Given the description of an element on the screen output the (x, y) to click on. 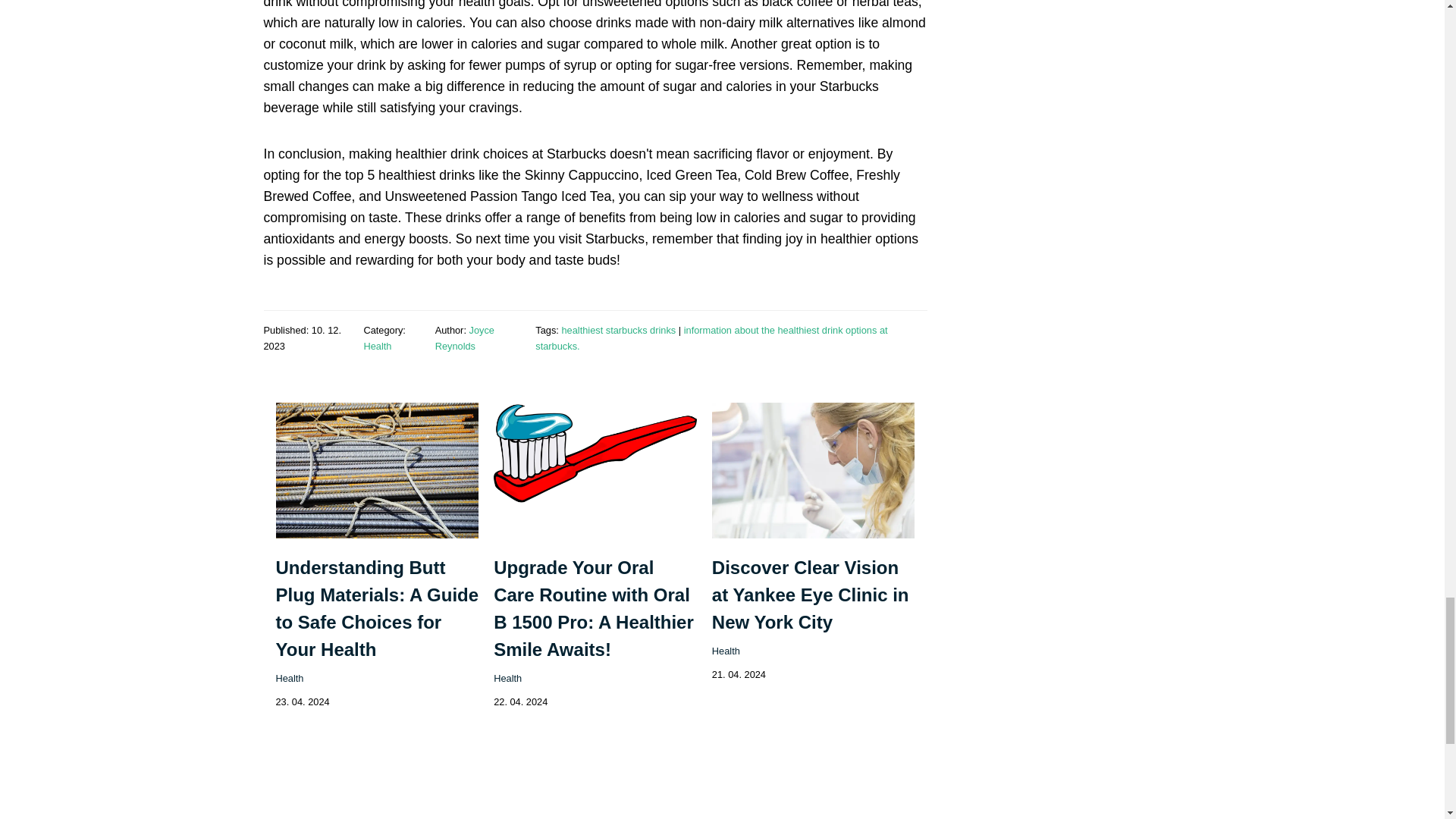
Joyce Reynolds (465, 337)
Health (725, 650)
healthiest starbucks drinks (617, 329)
Discover Clear Vision at Yankee Eye Clinic in New York City (809, 594)
Health (290, 677)
Health (376, 346)
Health (507, 677)
information about the healthiest drink options at starbucks. (710, 337)
